Given the description of an element on the screen output the (x, y) to click on. 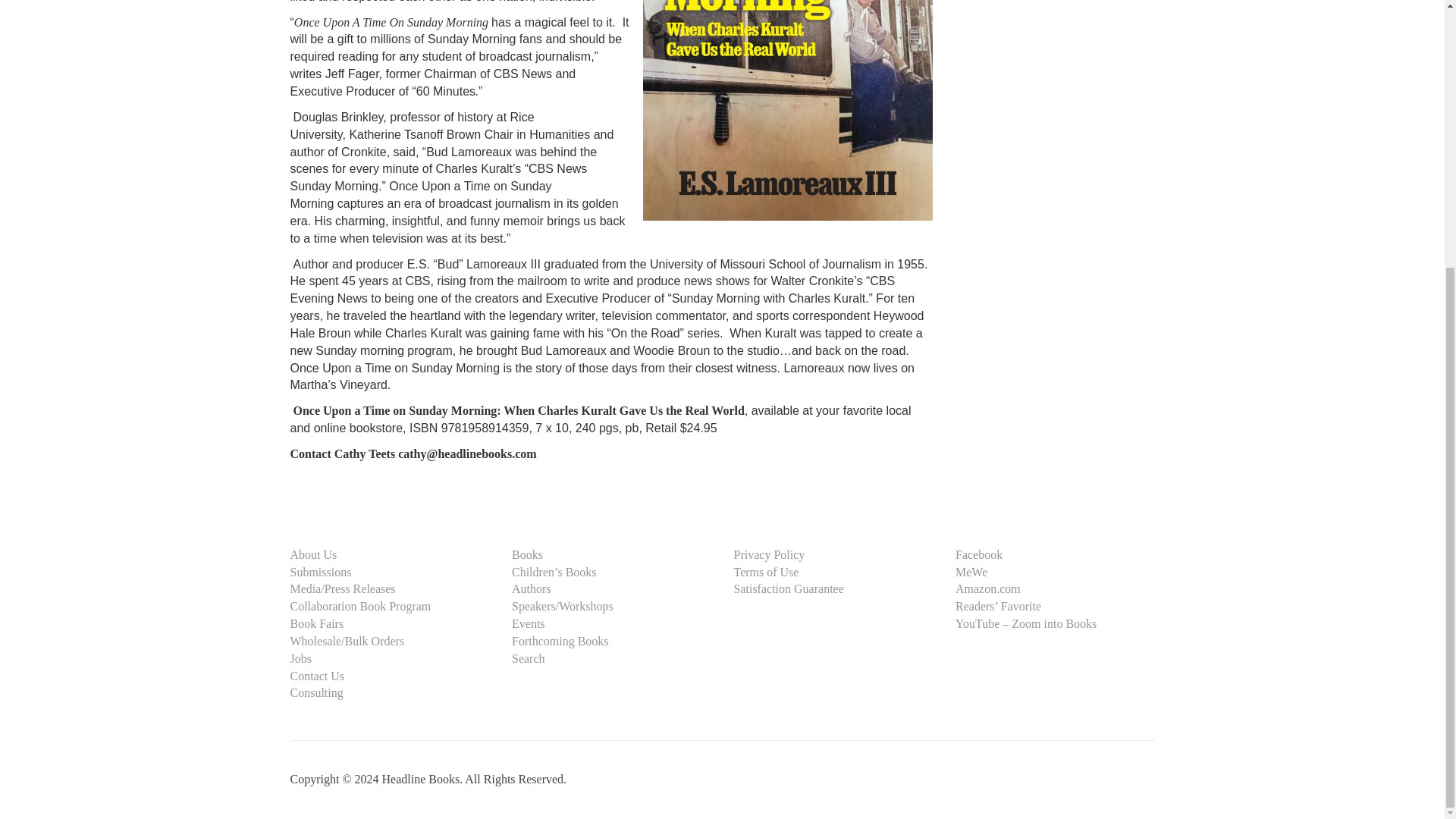
Privacy Policy (769, 554)
Forthcoming Books (560, 640)
Books (527, 554)
Book Fairs (316, 623)
Collaboration Book Program (359, 605)
Contact Us (316, 675)
Consulting (315, 692)
Terms of Use (766, 571)
Submissions (319, 571)
About Us (312, 554)
Jobs (300, 658)
Search (528, 658)
Events (528, 623)
Satisfaction Guarantee (788, 588)
Authors (531, 588)
